Given the description of an element on the screen output the (x, y) to click on. 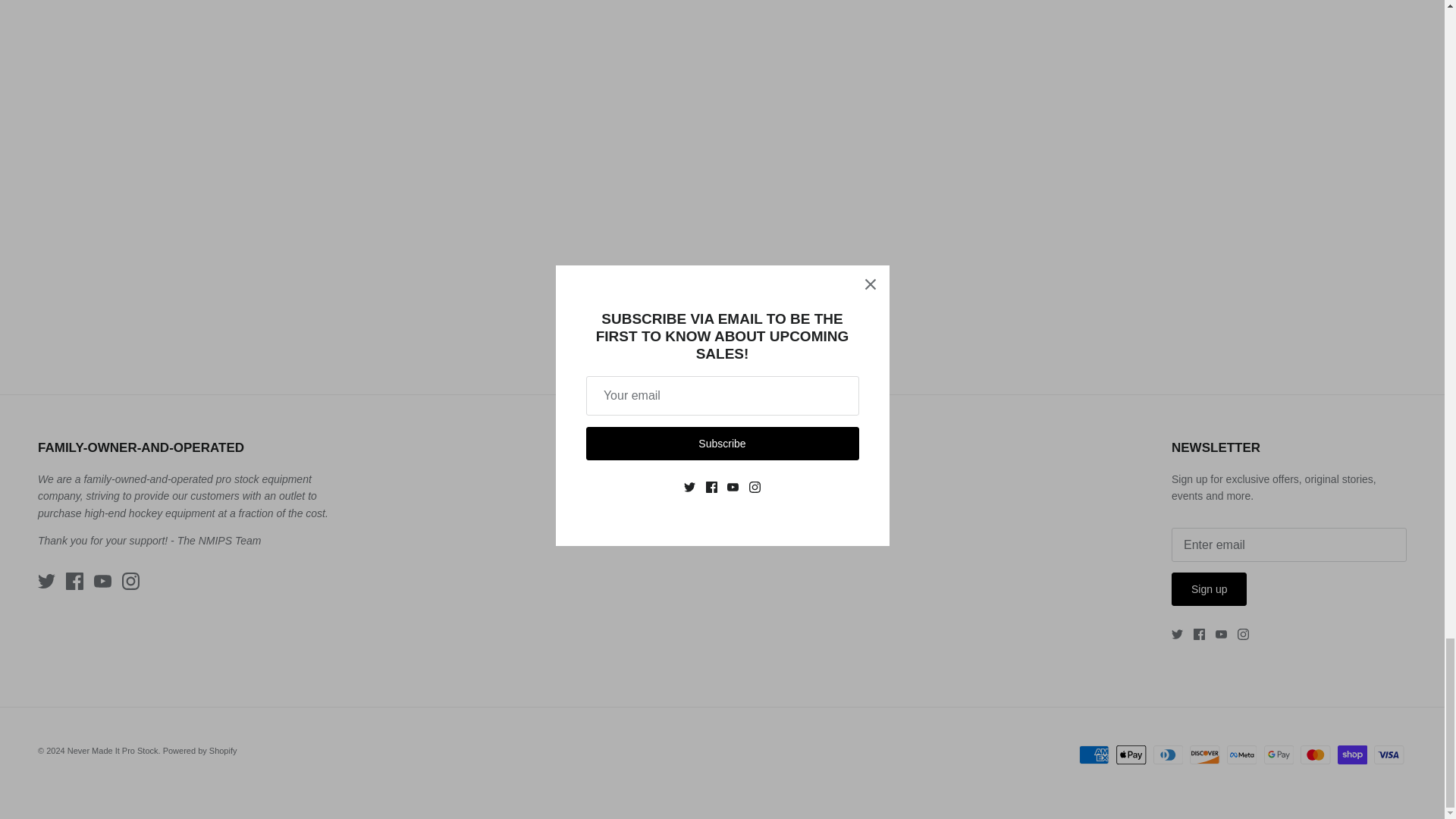
Twitter (46, 580)
Discover (1204, 754)
Youtube (1221, 633)
Facebook (1199, 633)
Diners Club (1168, 754)
American Express (1093, 754)
Meta Pay (1241, 754)
Twitter (1177, 633)
Apple Pay (1130, 754)
Instagram (1243, 633)
